Given the description of an element on the screen output the (x, y) to click on. 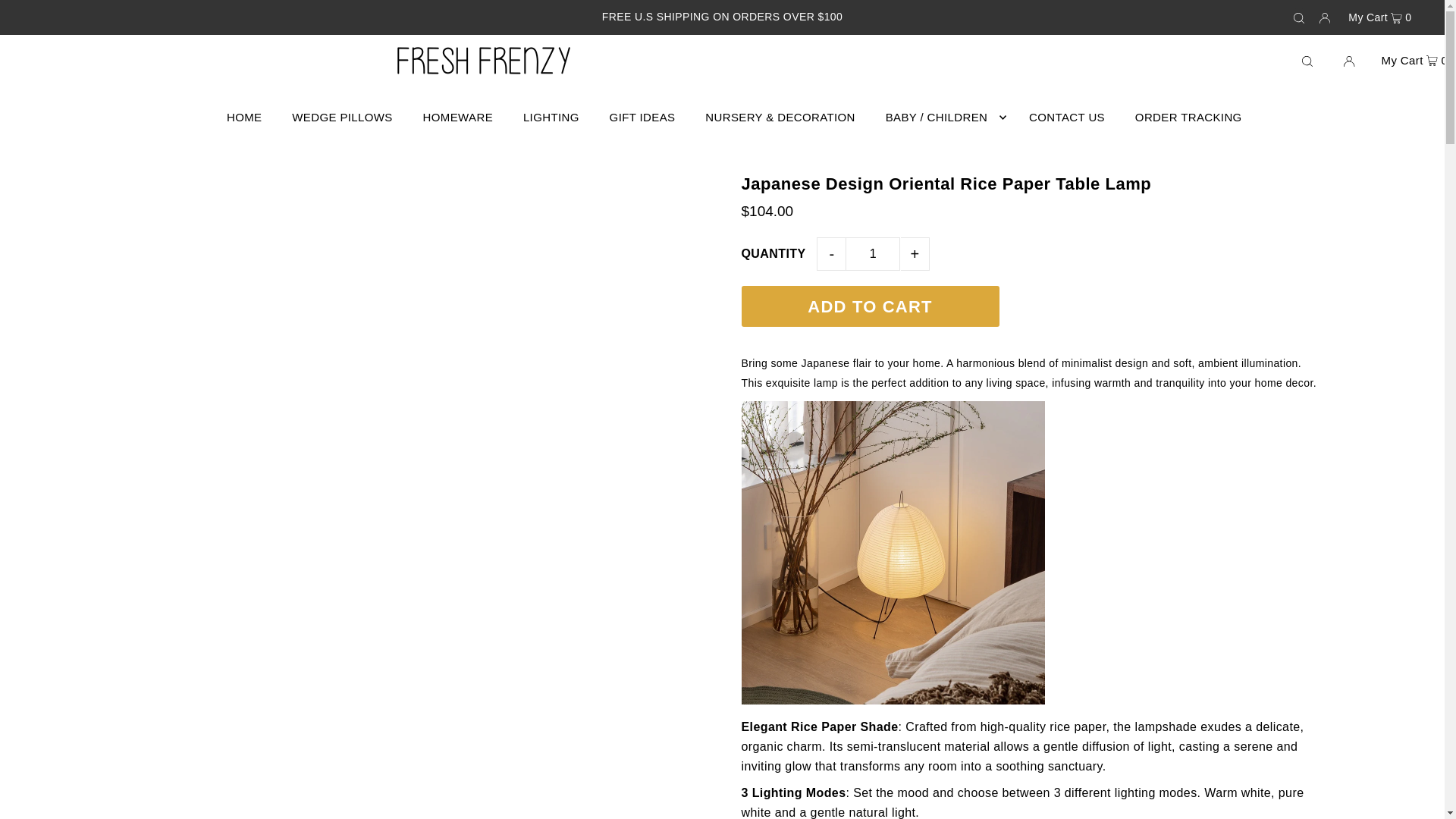
1 (872, 254)
Add to Cart (869, 305)
LIGHTING (550, 117)
GIFT IDEAS (642, 117)
HOMEWARE (457, 117)
HOME (244, 117)
WEDGE PILLOWS (340, 117)
